Given the description of an element on the screen output the (x, y) to click on. 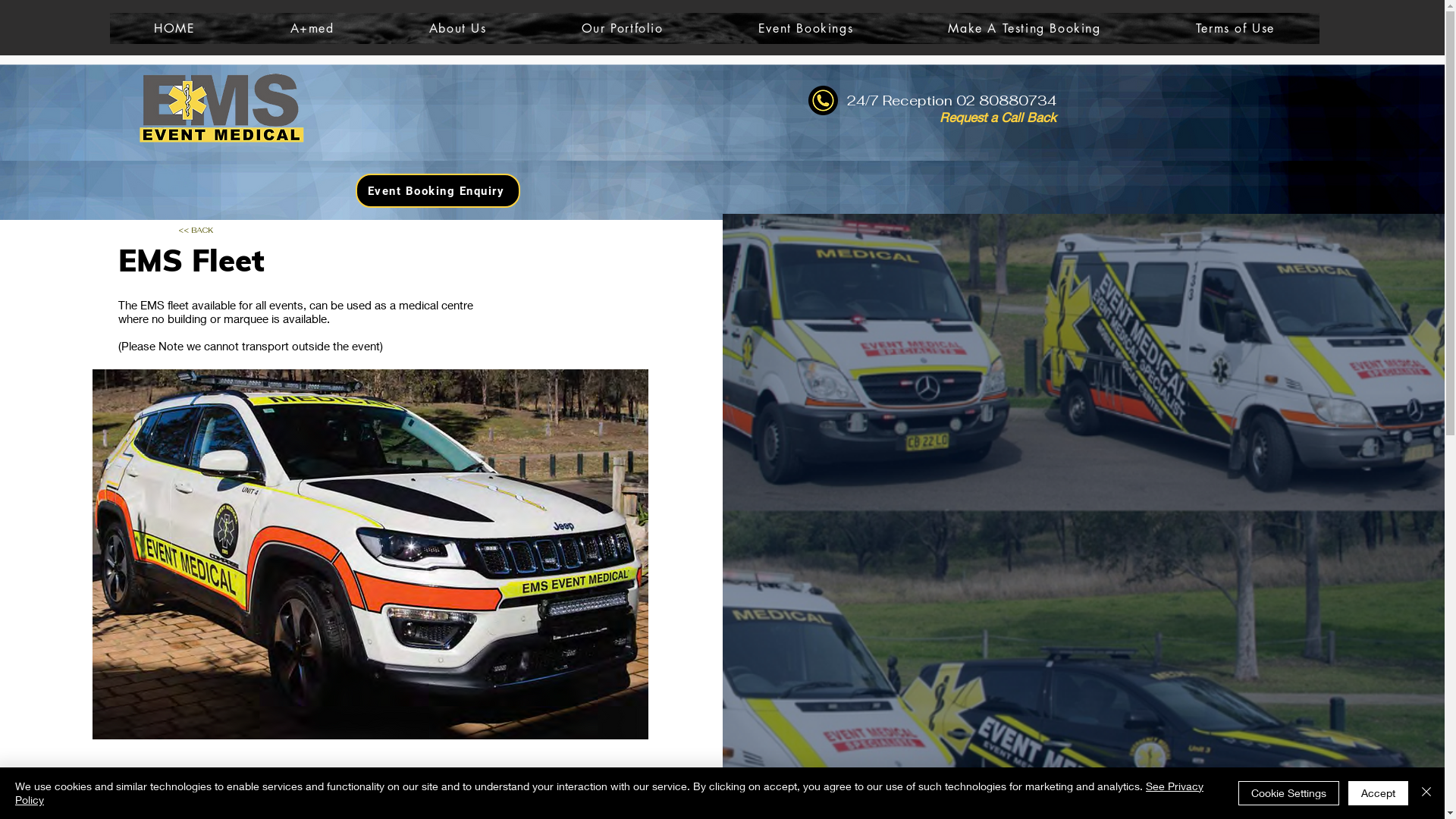
Event Bookings Element type: text (805, 27)
Accept Element type: text (1378, 793)
HOME Element type: text (174, 27)
<< BACK Element type: text (195, 230)
Our Portfolio Element type: text (621, 27)
Make A Testing Booking Element type: text (1024, 27)
See Privacy Policy Element type: text (609, 792)
Cookie Settings Element type: text (1288, 793)
About Us Element type: text (457, 27)
Terms of Use Element type: text (1234, 27)
A+med Element type: text (311, 27)
Event Booking Enquiry Element type: text (436, 190)
